Given the description of an element on the screen output the (x, y) to click on. 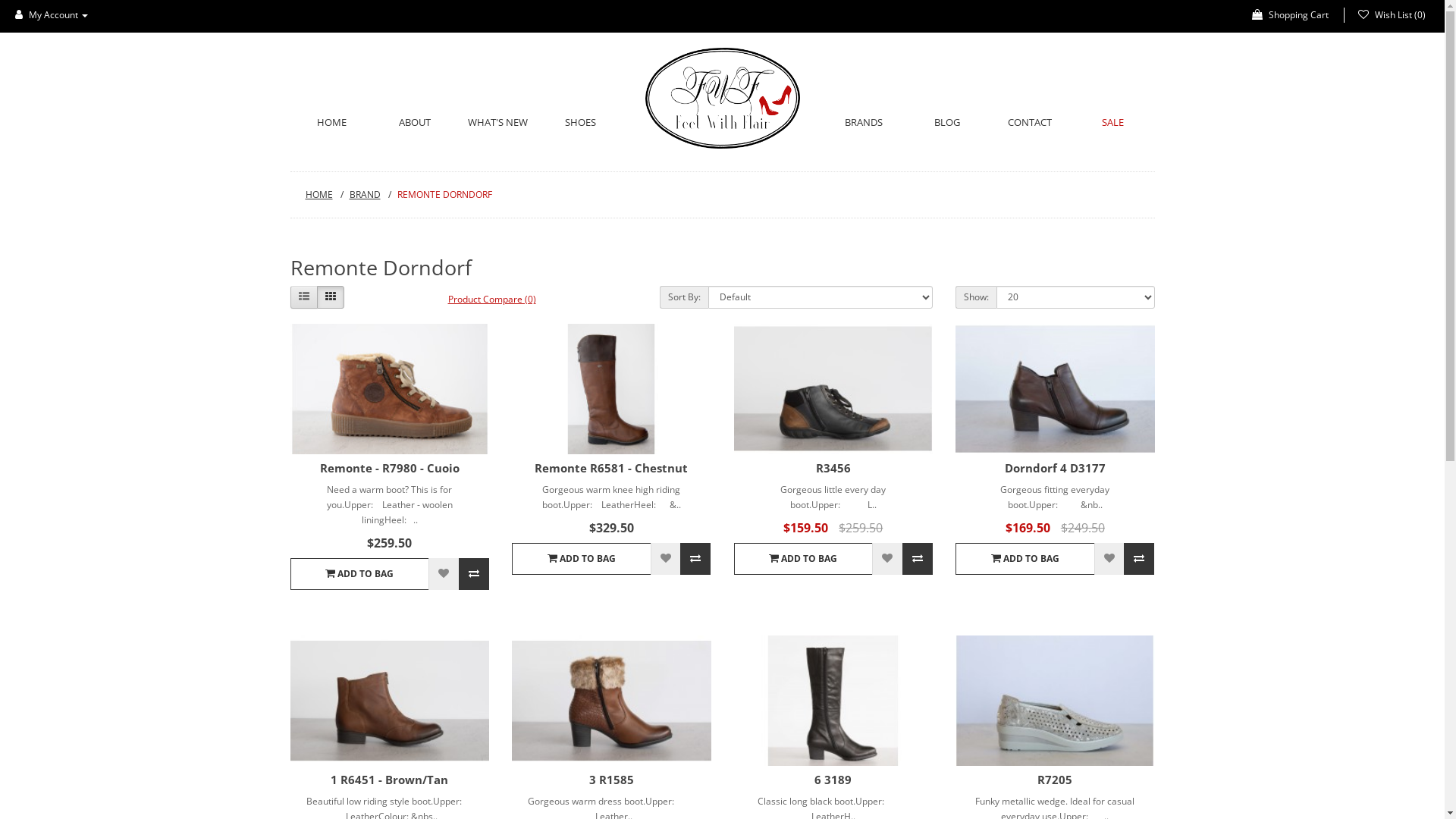
BRANDS Element type: text (863, 121)
R3456 Element type: text (832, 467)
1 R6451 - Brown/Tan Element type: text (389, 779)
SHOES Element type: text (580, 121)
REMONTE DORNDORF Element type: text (444, 194)
BRAND Element type: text (369, 194)
ADD TO BAG Element type: text (580, 558)
Feet with Flair Element type: hover (721, 97)
3 R1585 Element type: hover (611, 700)
ABOUT Element type: text (414, 121)
R7205 Element type: text (1054, 779)
HOME Element type: text (323, 194)
Dorndorf 4 D3177 Element type: text (1054, 467)
Remonte - R7980 - Cuoio Element type: hover (389, 388)
HOME Element type: text (331, 121)
R7205 Element type: hover (1054, 700)
6 3189 Element type: hover (833, 700)
Dorndorf 4 D3177  Element type: hover (1054, 388)
My Account Element type: text (51, 14)
3 R1585 Element type: text (611, 779)
Product Compare (0) Element type: text (492, 298)
ADD TO BAG Element type: text (1024, 558)
WHAT'S NEW Element type: text (497, 121)
Remonte R6581 - Chestnut Element type: text (610, 467)
Remonte R6581 - Chestnut  Element type: hover (611, 388)
R3456 Element type: hover (833, 388)
Wish List (0) Element type: text (1391, 14)
Shopping Cart Element type: text (1290, 14)
BLOG Element type: text (946, 121)
Remonte - R7980 - Cuoio Element type: text (389, 467)
ADD TO BAG Element type: text (803, 558)
6 3189 Element type: text (832, 779)
CONTACT Element type: text (1030, 121)
SALE Element type: text (1112, 121)
1 R6451 - Brown/Tan Element type: hover (389, 700)
ADD TO BAG Element type: text (358, 573)
